Given the description of an element on the screen output the (x, y) to click on. 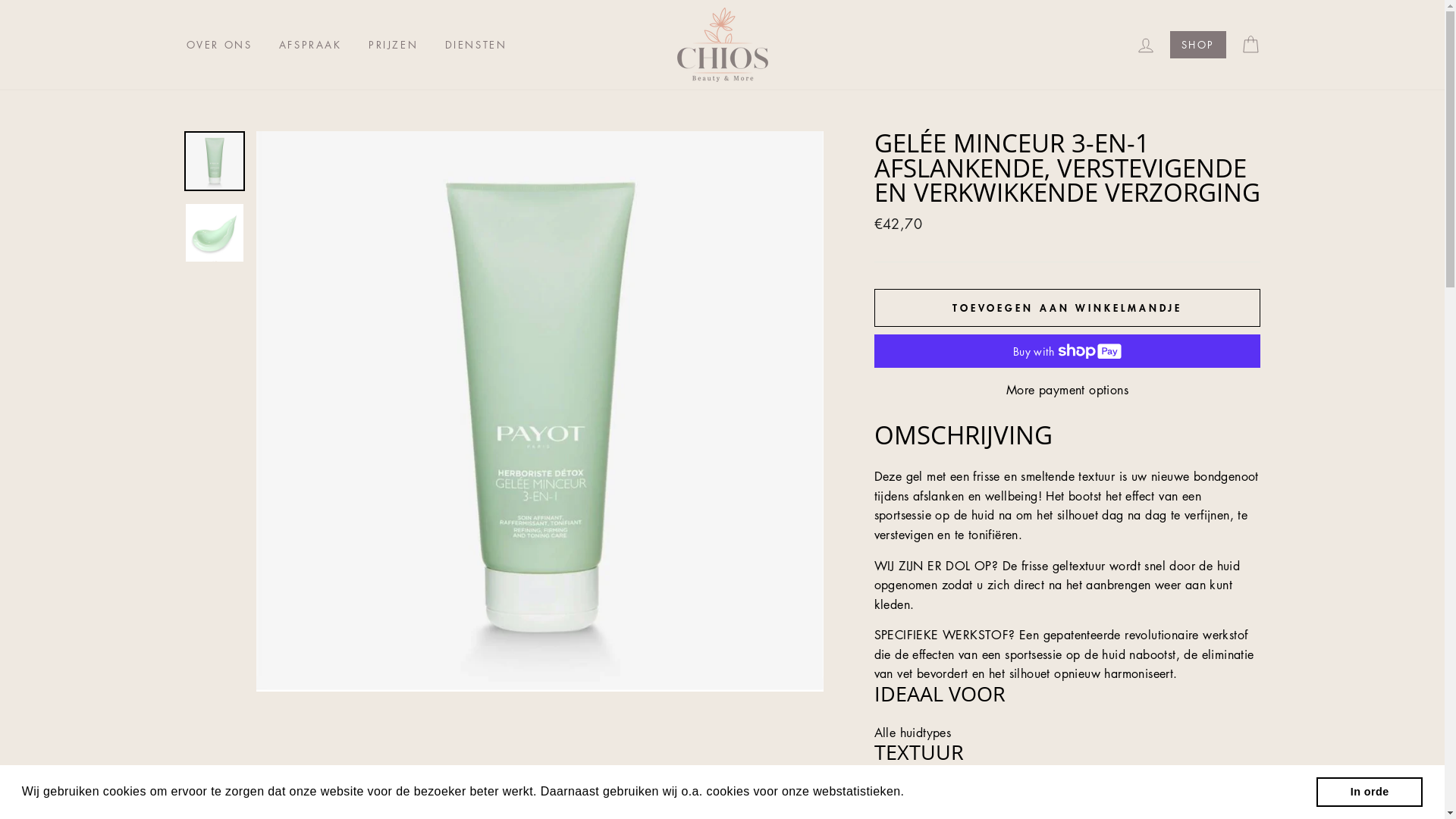
More payment options Element type: text (1067, 390)
DIENSTEN Element type: text (475, 44)
PRIJZEN Element type: text (393, 44)
SHOP Element type: text (1198, 44)
TOEVOEGEN AAN WINKELMANDJE Element type: text (1067, 307)
AFSPRAAK Element type: text (310, 44)
CART Element type: text (1249, 44)
LOG IN Element type: text (1145, 44)
In orde Element type: text (1369, 791)
Skip to content Element type: text (0, 0)
OVER ONS Element type: text (218, 44)
